Given the description of an element on the screen output the (x, y) to click on. 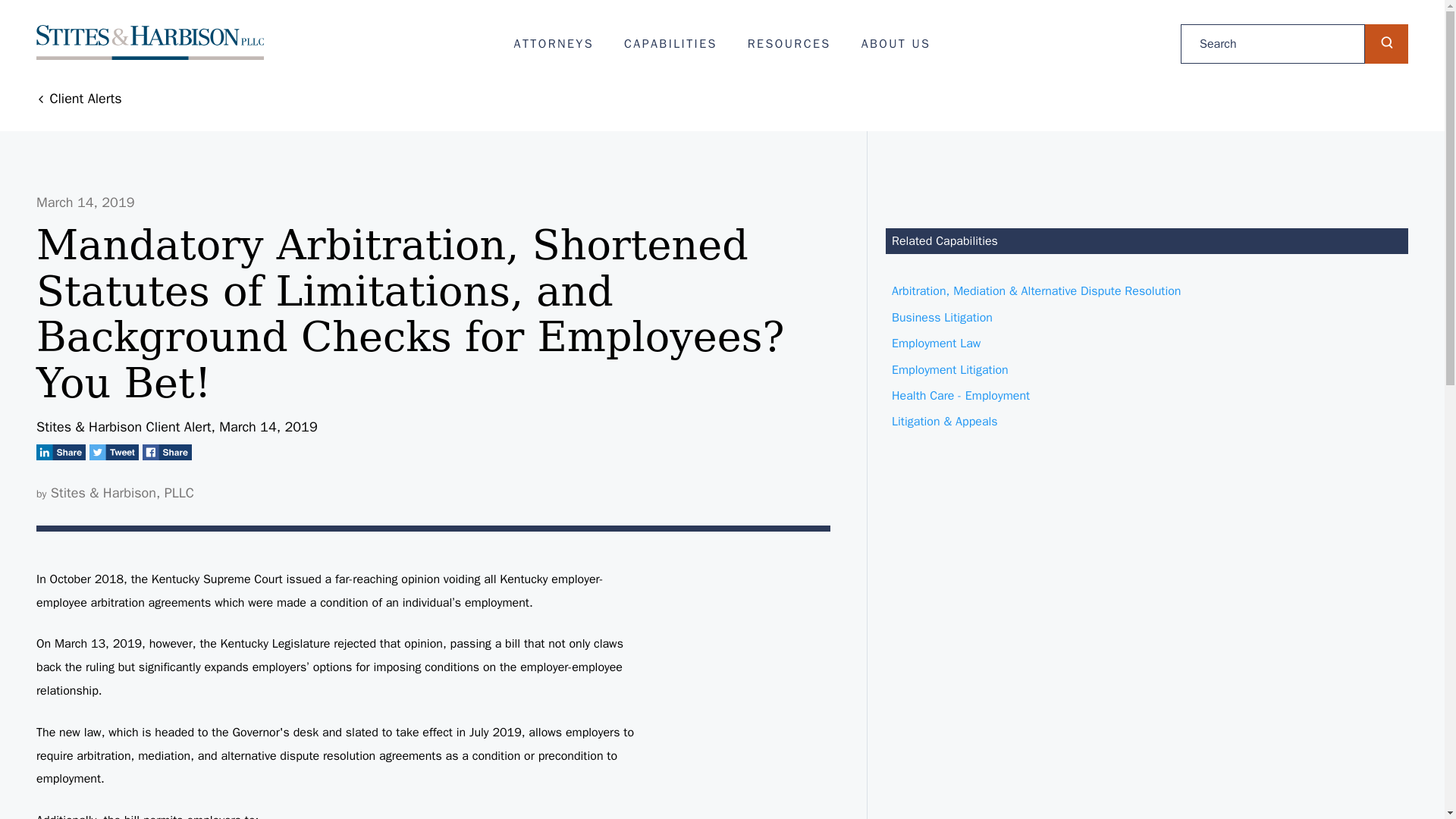
ATTORNEYS (553, 43)
RESOURCES (789, 43)
Employment Litigation (1146, 370)
Health Care - Employment (1146, 395)
ABOUT US (895, 43)
Employment Law (1146, 343)
Client Alerts (79, 98)
CAPABILITIES (670, 43)
Business Litigation (1146, 317)
